Given the description of an element on the screen output the (x, y) to click on. 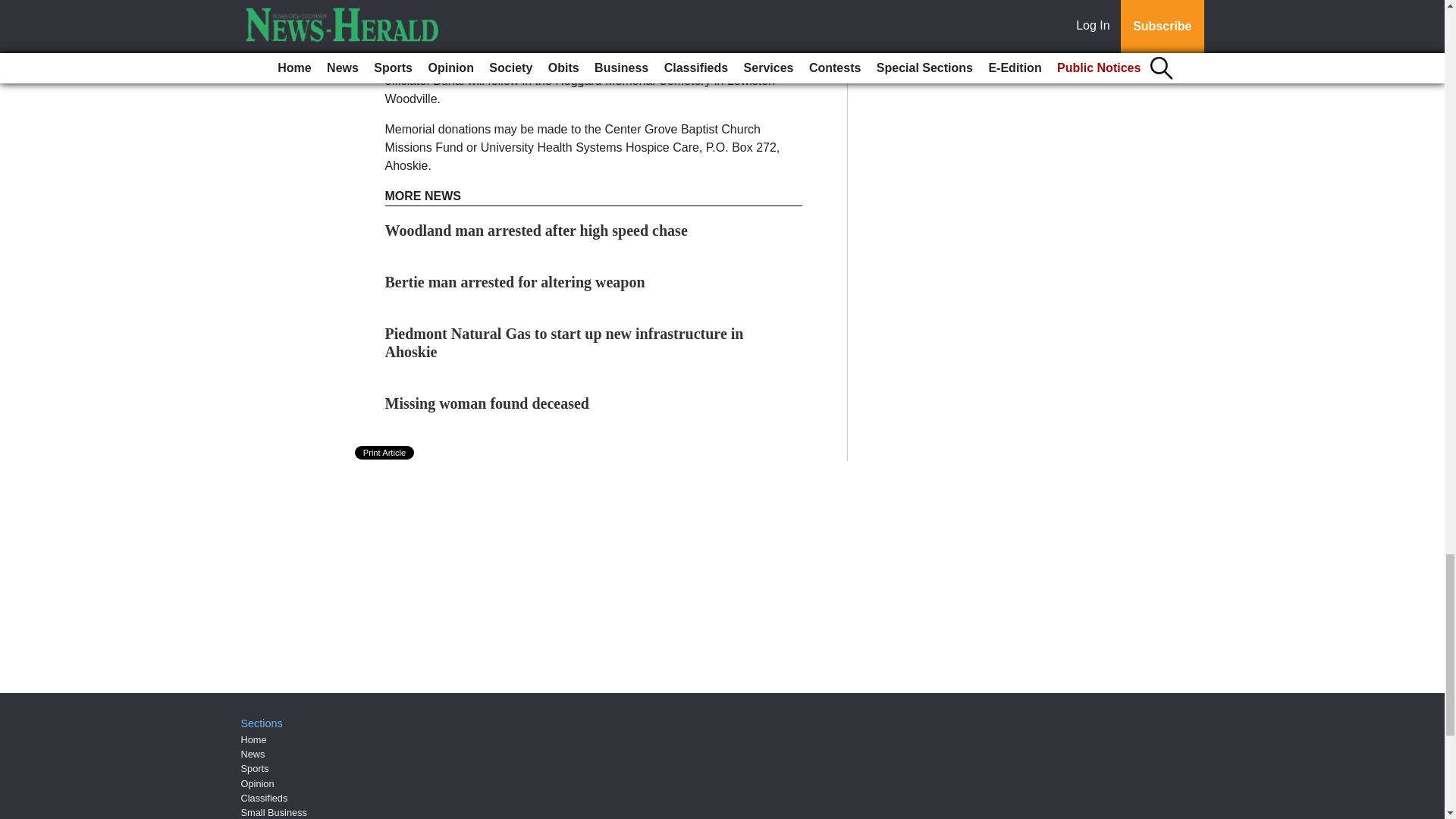
Bertie man arrested for altering weapon (515, 281)
Woodland man arrested after high speed chase (536, 230)
Missing woman found deceased (487, 402)
Missing woman found deceased (487, 402)
Bertie man arrested for altering weapon (515, 281)
Print Article (384, 452)
Woodland man arrested after high speed chase (536, 230)
